Given the description of an element on the screen output the (x, y) to click on. 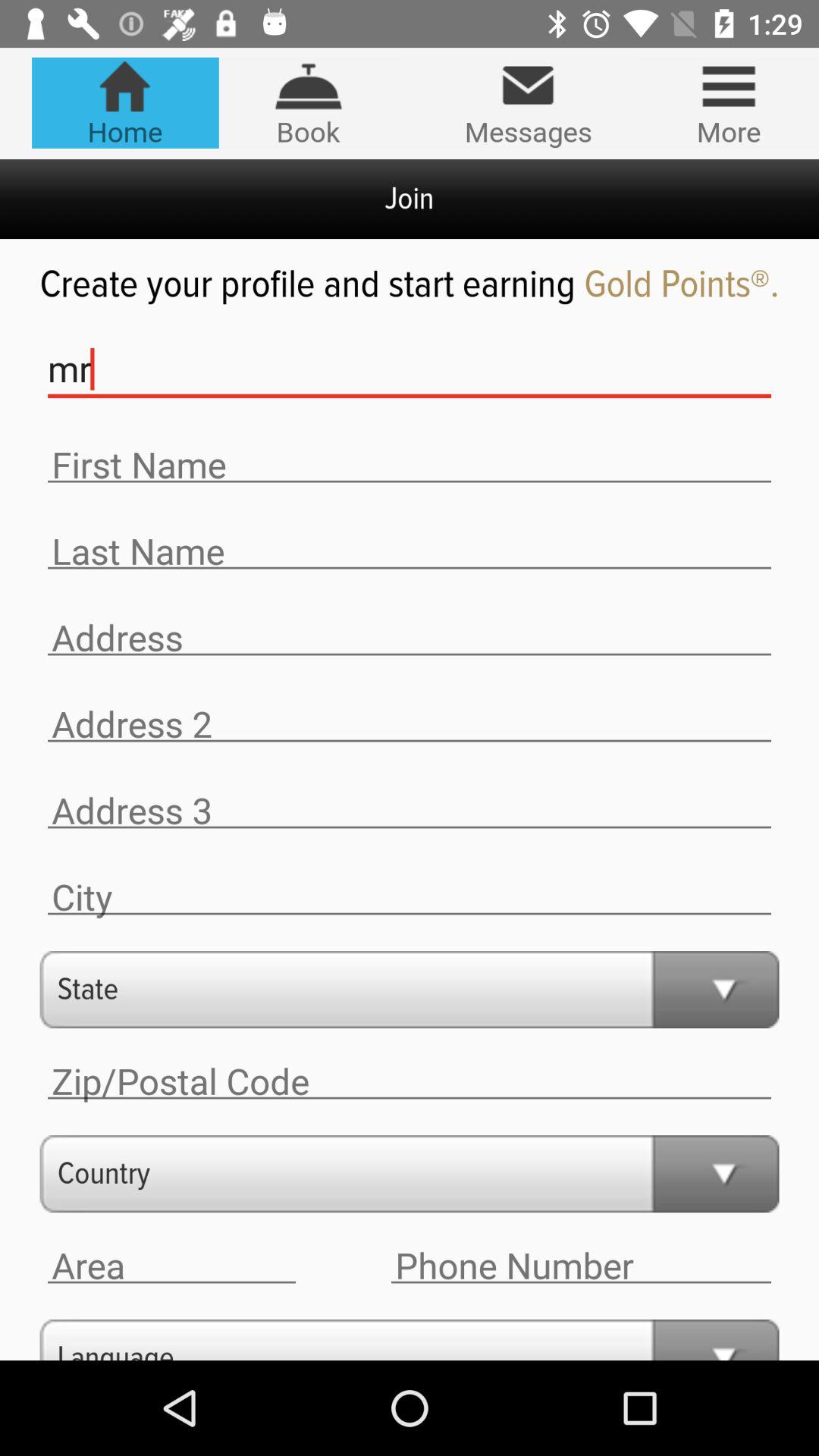
phone area code (171, 1266)
